Given the description of an element on the screen output the (x, y) to click on. 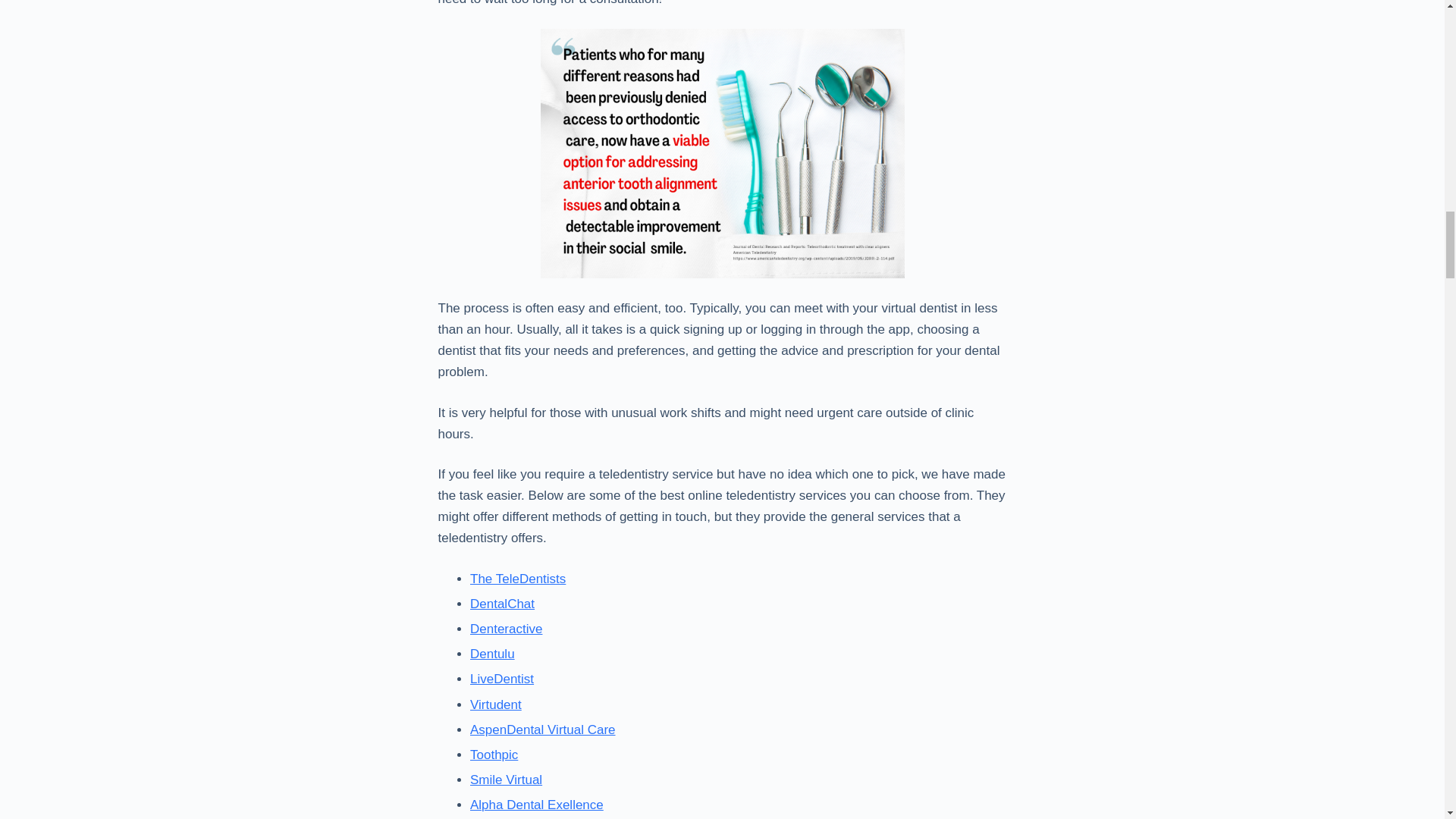
AspenDental Virtual Care (542, 729)
The TeleDentists (518, 578)
Dentulu (492, 653)
DentalChat (502, 603)
Toothpic (494, 754)
Alpha Dental Exellence (537, 804)
Denteractive (505, 628)
Smile Virtual (505, 780)
Virtudent (495, 704)
LiveDentist (502, 678)
